Given the description of an element on the screen output the (x, y) to click on. 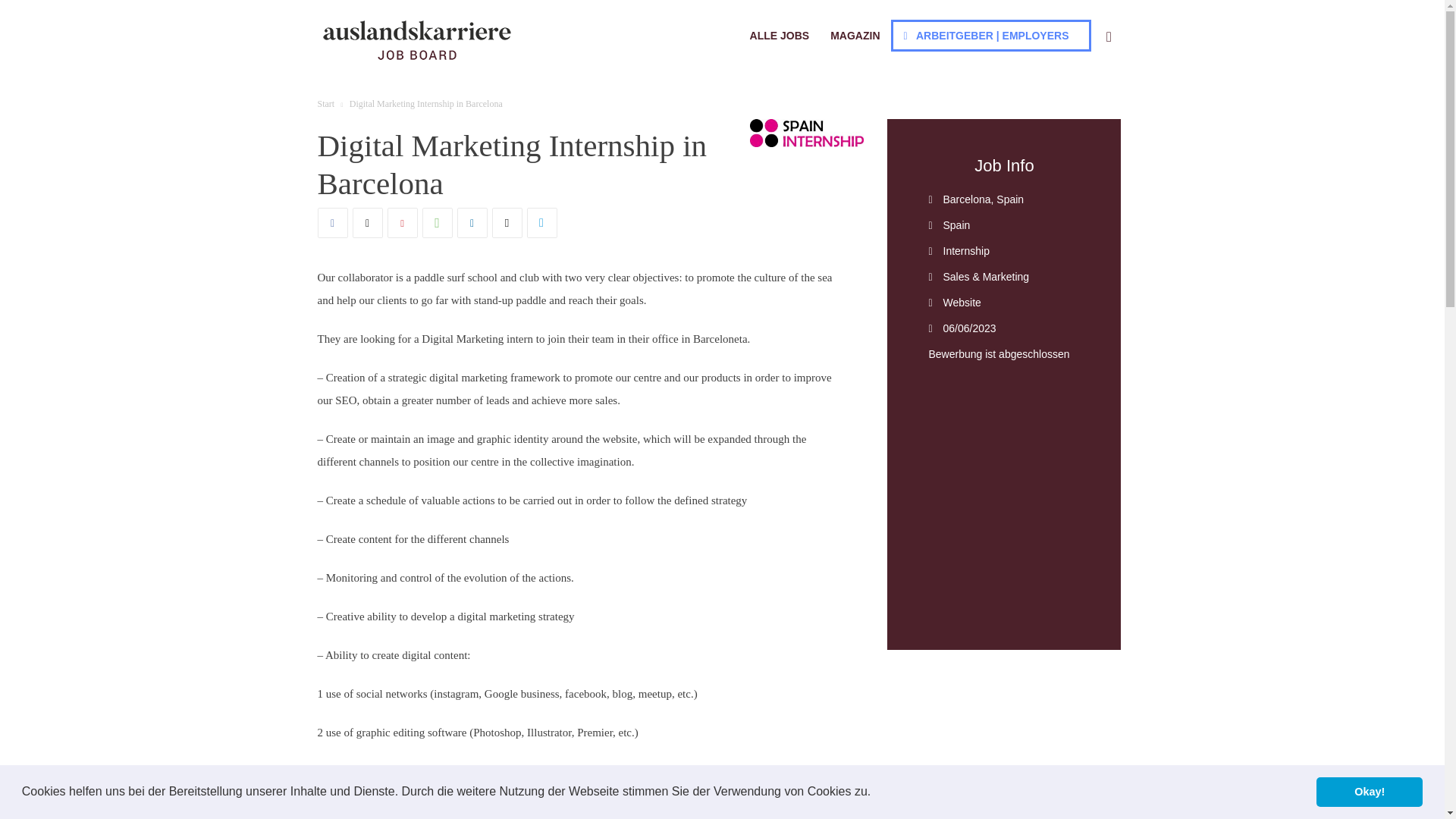
Twitter (366, 223)
WhatsApp (436, 223)
Linkedin (471, 223)
Pinterest (401, 223)
Start (325, 103)
auslandskarriere (416, 39)
ALLE JOBS (780, 35)
Auslandskarriere Job Board (416, 39)
MAGAZIN (854, 35)
Okay! (1369, 791)
